Given the description of an element on the screen output the (x, y) to click on. 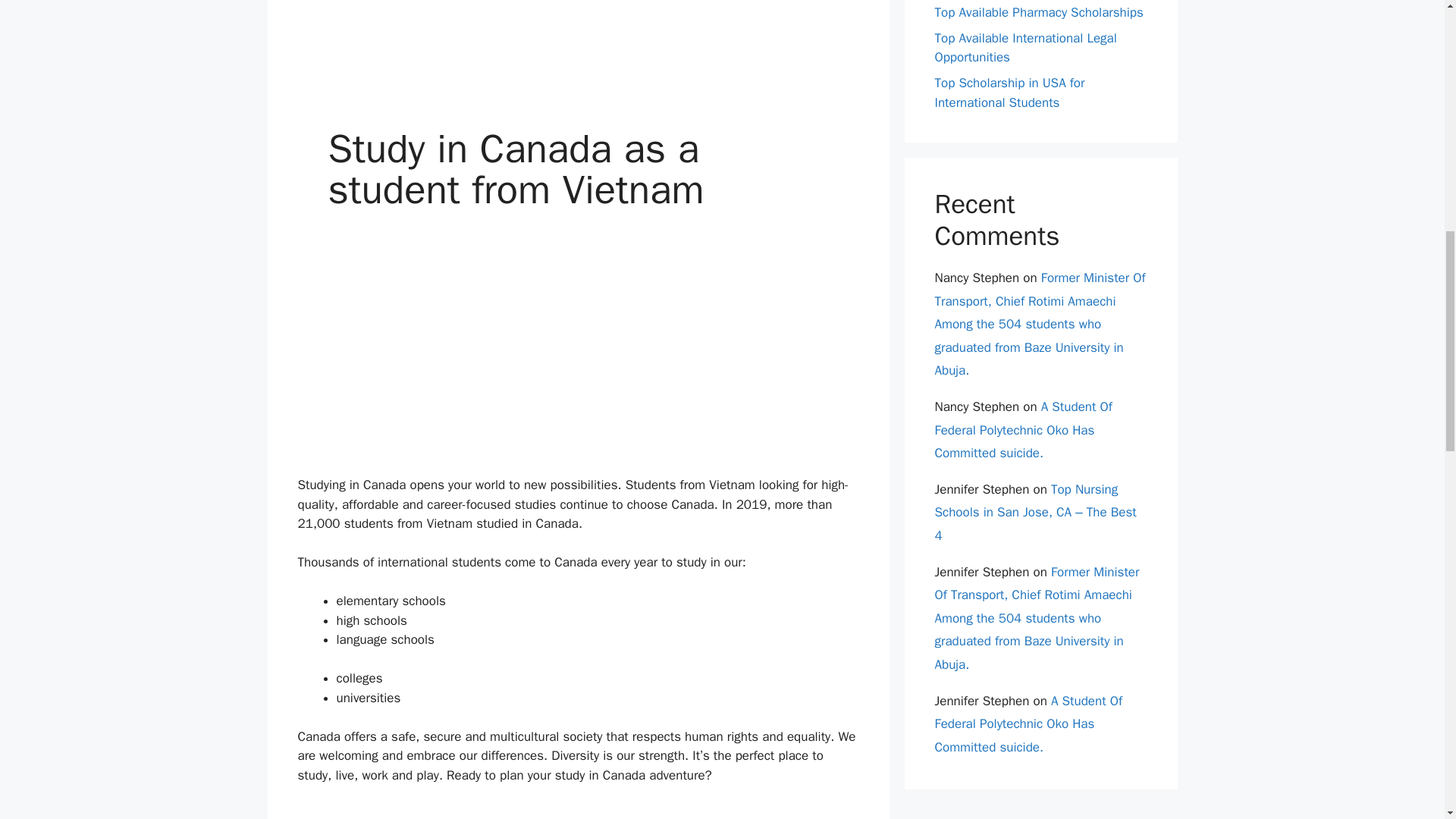
A Student Of Federal Polytechnic Oko Has Committed suicide. (1023, 429)
Top Available Pharmacy Scholarships (1038, 12)
Top Scholarship in USA for International Students (1009, 92)
Advertisement (578, 811)
A Student Of Federal Polytechnic Oko Has Committed suicide. (1028, 723)
Advertisement (578, 363)
Top Available International Legal Opportunities (1025, 48)
Advertisement (578, 47)
